Given the description of an element on the screen output the (x, y) to click on. 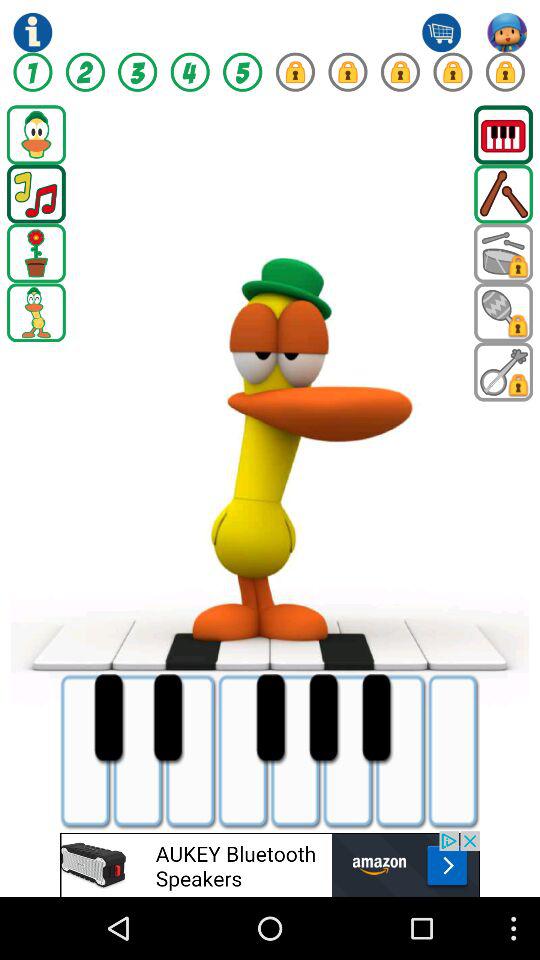
select n 3 (137, 71)
